Given the description of an element on the screen output the (x, y) to click on. 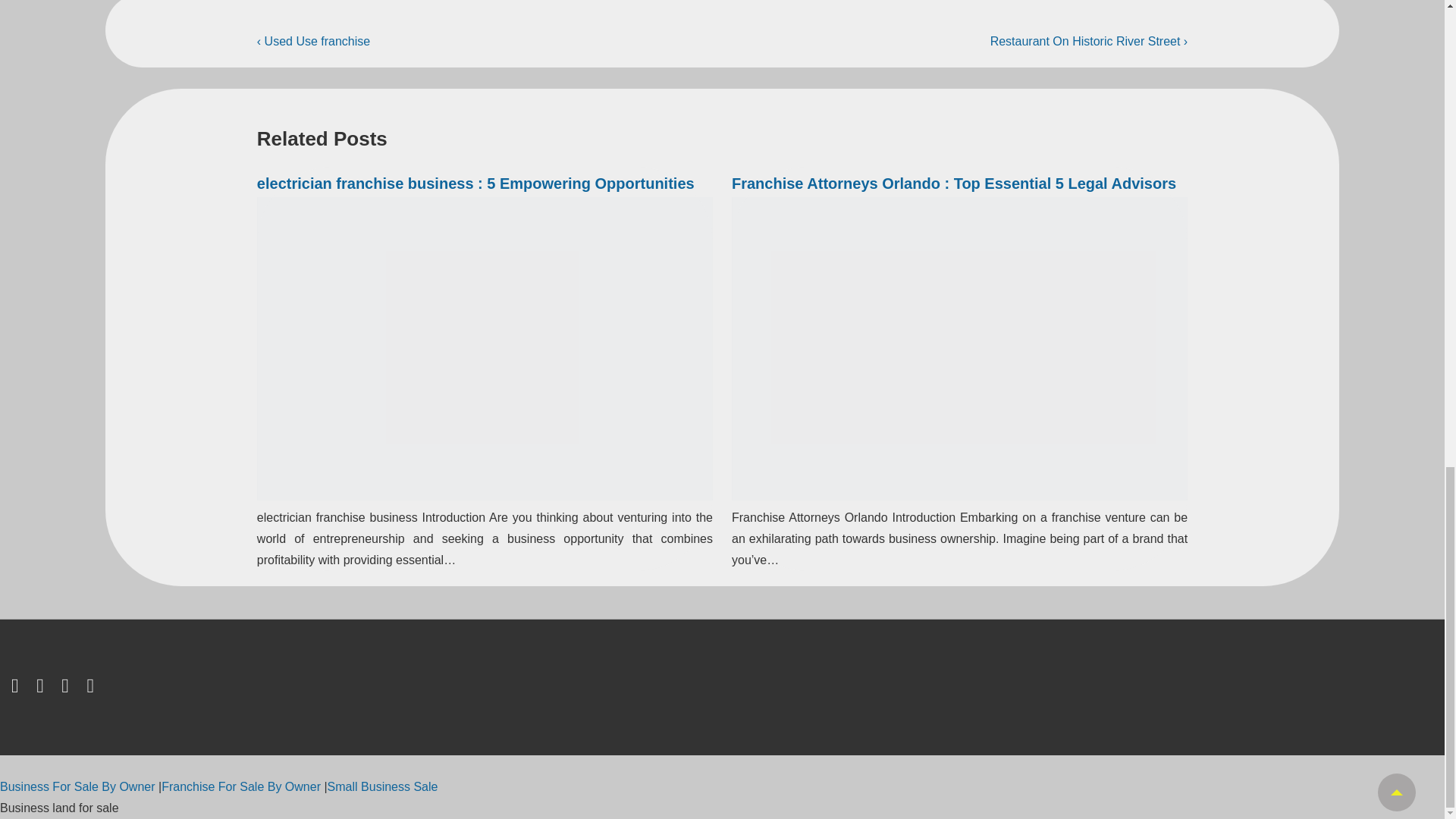
Franchise Attorneys Orlando : Top Essential 5 Legal Advisors (954, 183)
twitter (17, 688)
linkedin (68, 688)
youtube (91, 688)
facebook (42, 688)
electrician franchise business : 5 Empowering Opportunities (475, 183)
